Given the description of an element on the screen output the (x, y) to click on. 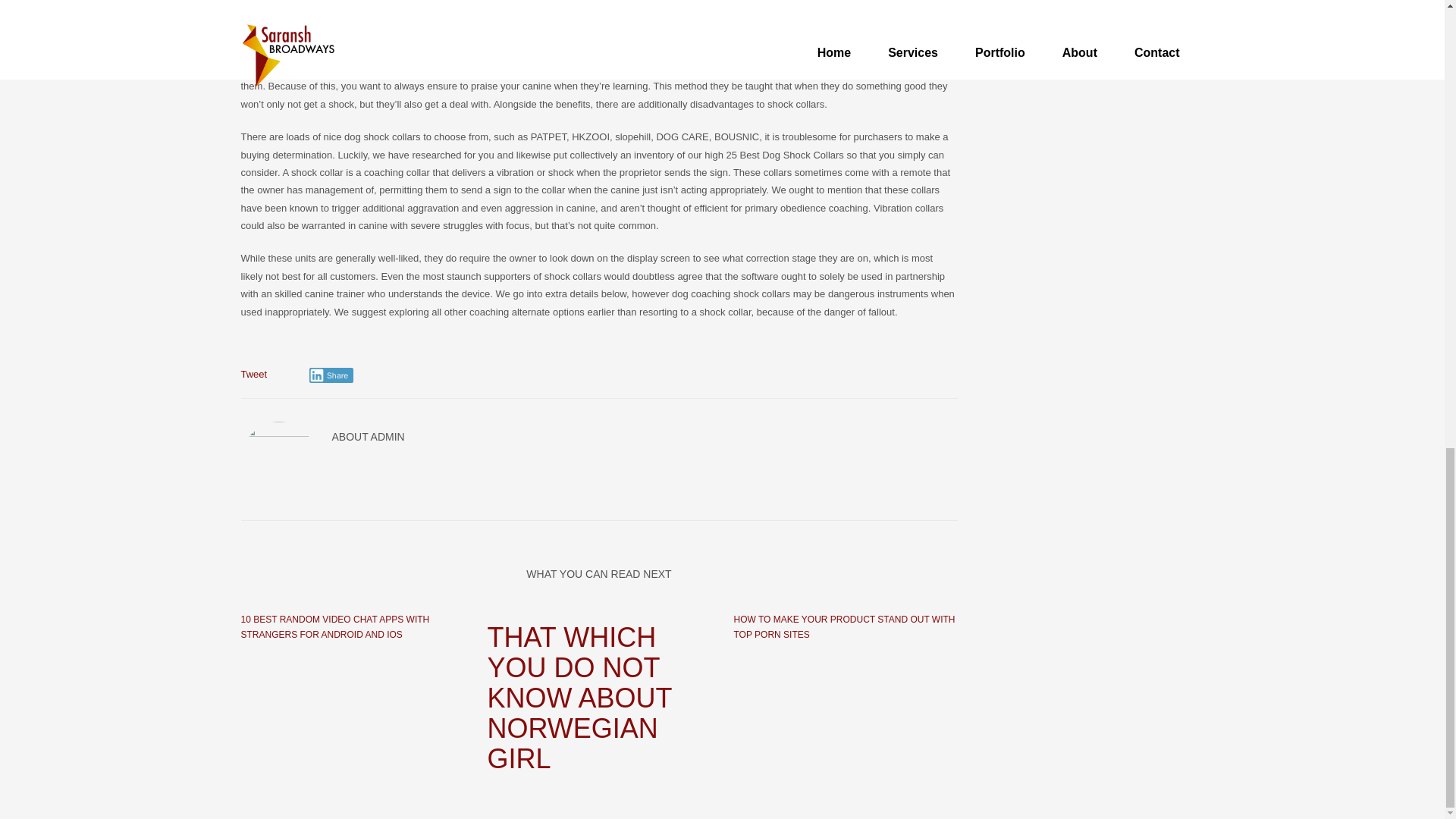
Share (330, 375)
HOW TO MAKE YOUR PRODUCT STAND OUT WITH TOP PORN SITES (844, 626)
THAT WHICH YOU DO NOT KNOW ABOUT NORWEGIAN GIRL (598, 697)
Tweet (254, 374)
